Given the description of an element on the screen output the (x, y) to click on. 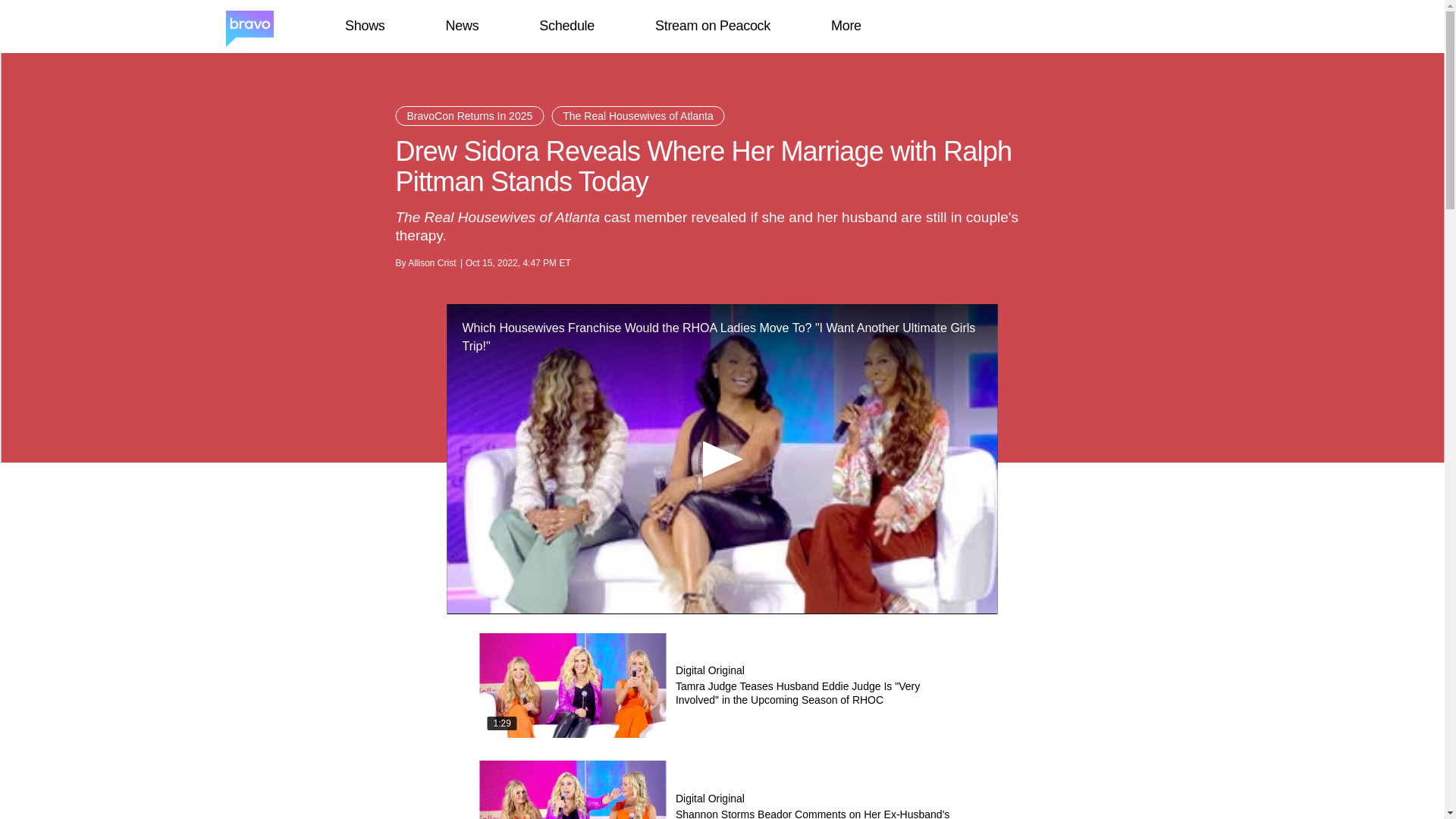
Stream on Peacock (712, 26)
Schedule (566, 26)
News (462, 26)
Allison Crist (431, 262)
More (846, 26)
BravoCon Returns In 2025 (470, 116)
Home (249, 26)
